Given the description of an element on the screen output the (x, y) to click on. 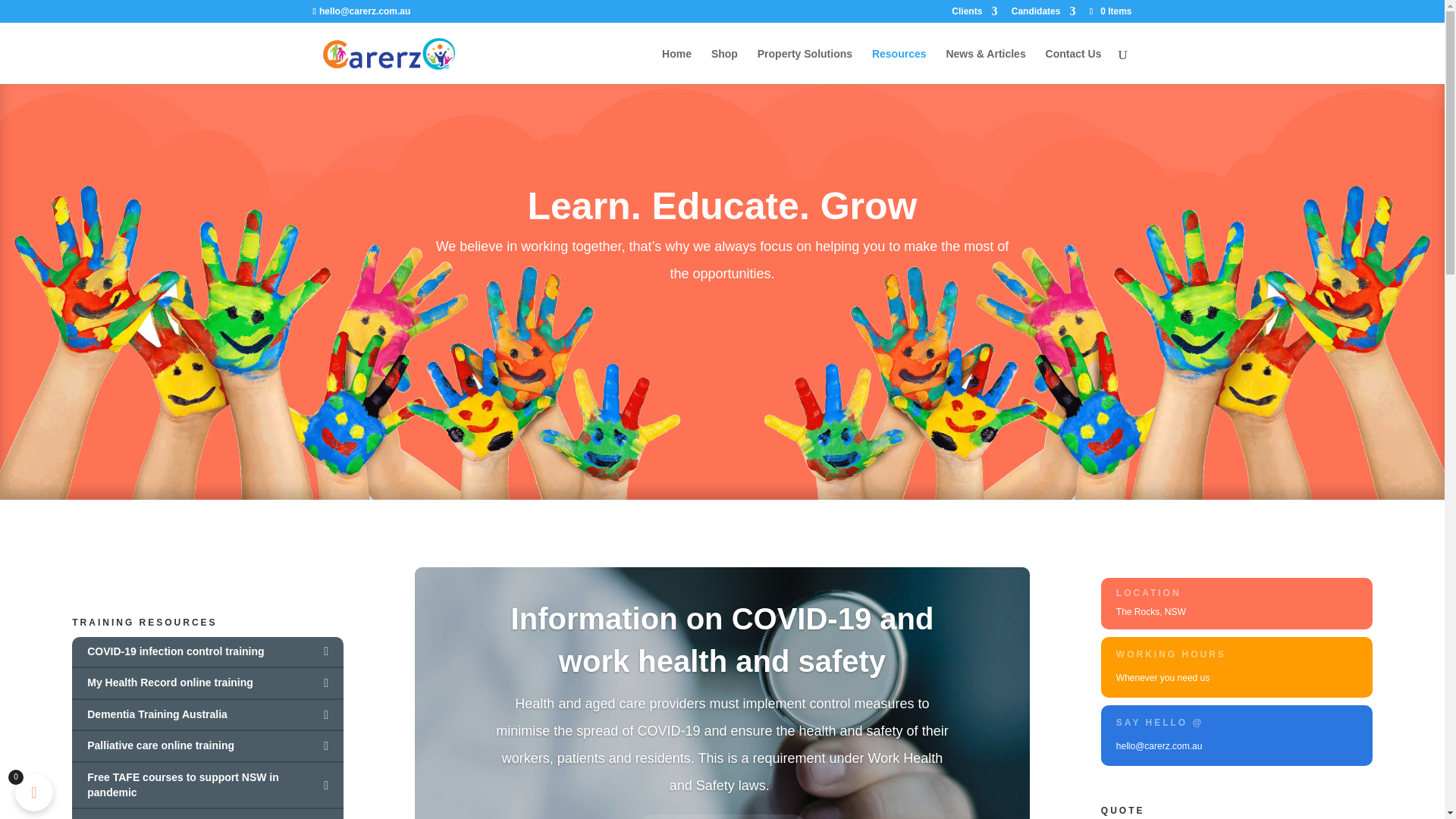
0 Items (1108, 10)
Candidates (1043, 14)
Clients (974, 14)
Contact Us (1073, 66)
Property Solutions (804, 66)
Resources (899, 66)
